Given the description of an element on the screen output the (x, y) to click on. 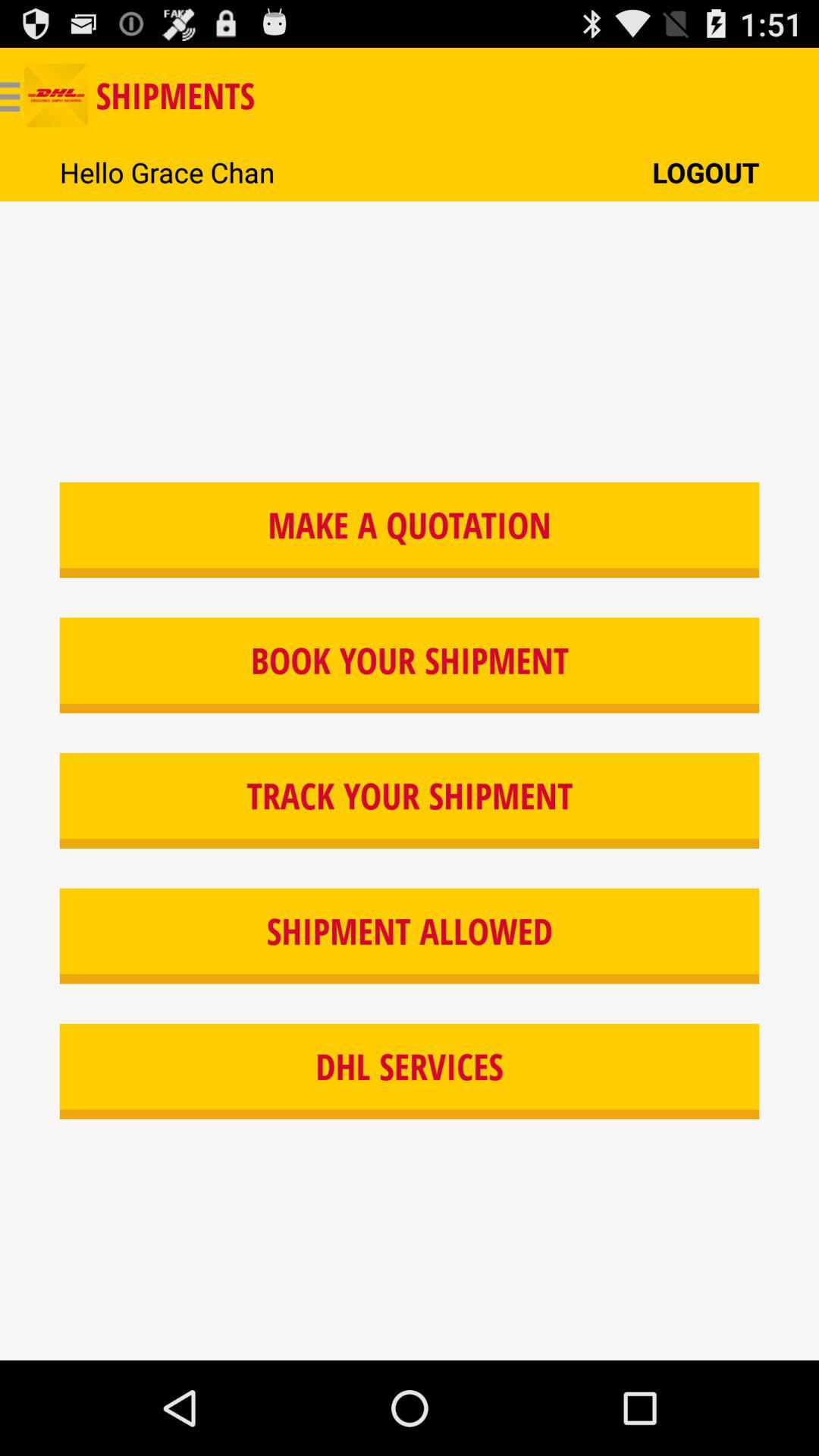
press the dhl services at the bottom (409, 1071)
